Given the description of an element on the screen output the (x, y) to click on. 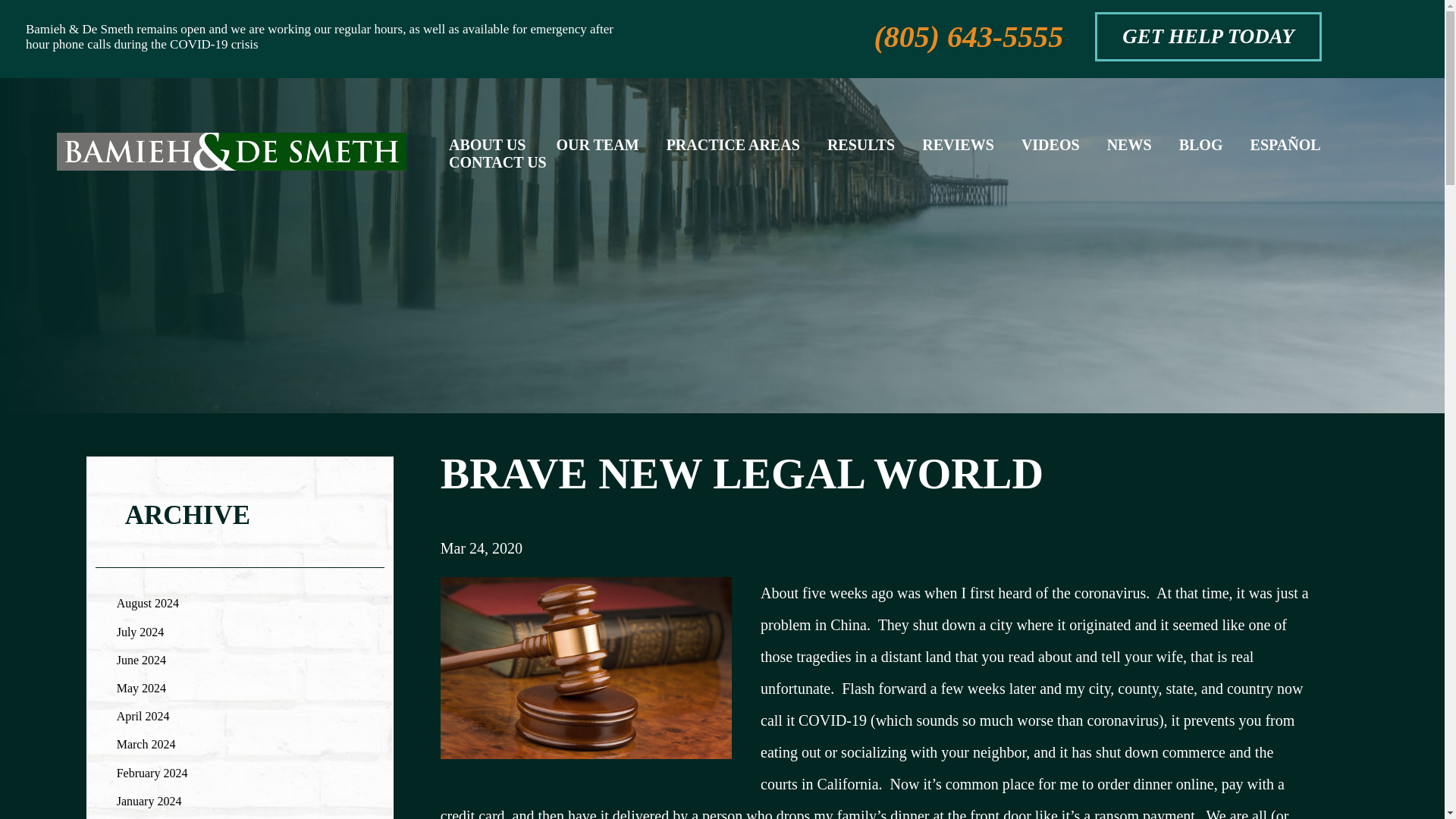
NEWS (1128, 151)
OUR TEAM (597, 151)
REVIEWS (956, 151)
GET HELP TODAY (1207, 36)
BLOG (1201, 151)
VIDEOS (1051, 151)
ABOUT US (486, 151)
PRACTICE AREAS (732, 151)
RESULTS (861, 151)
CONTACT US (497, 169)
